Given the description of an element on the screen output the (x, y) to click on. 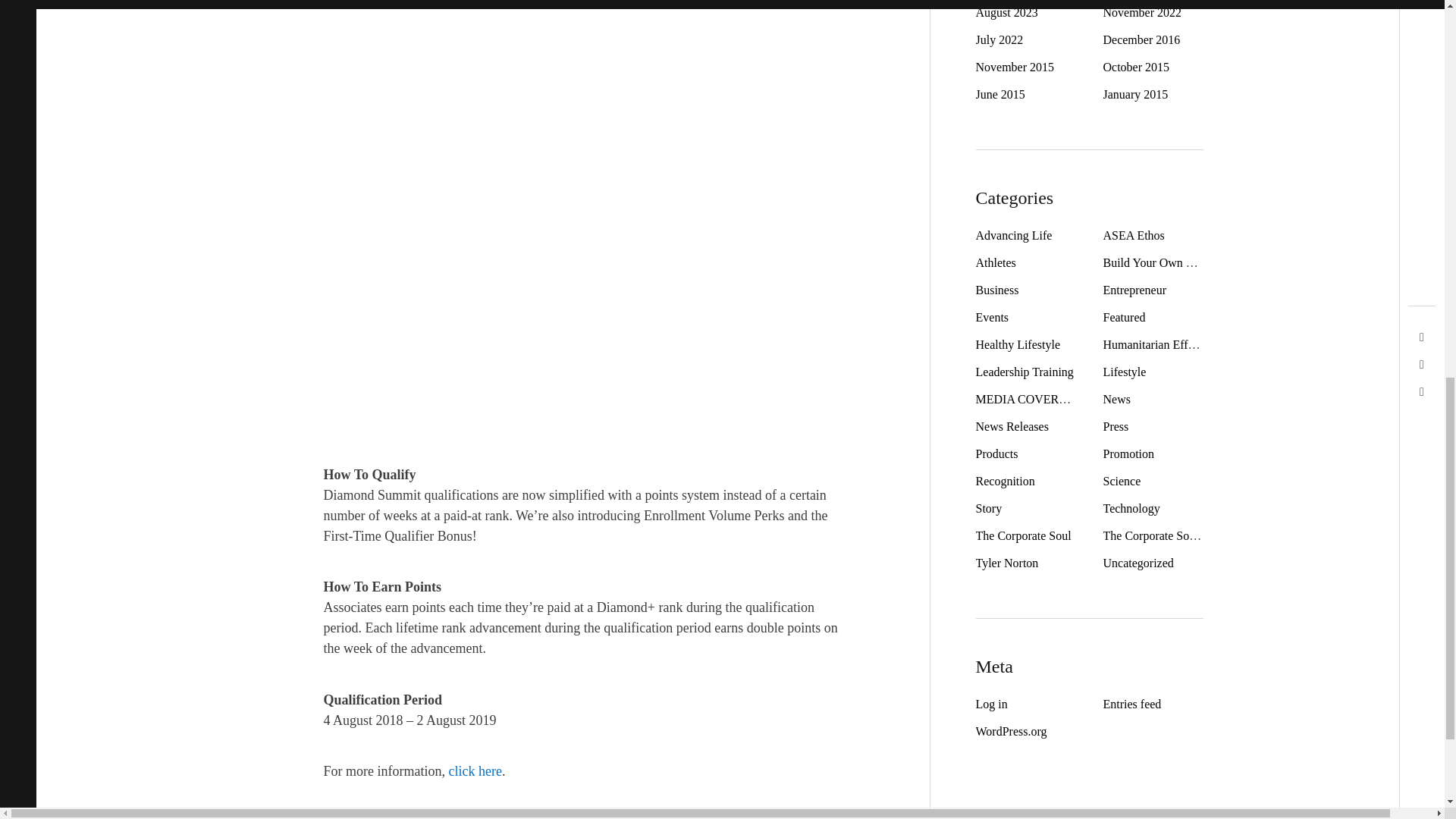
November 2015 (1014, 66)
July 2022 (999, 39)
click here (474, 771)
Summit (783, 812)
January 2015 (1134, 93)
August 2023 (1005, 11)
June 2015 (1000, 93)
Advancing Life (1013, 235)
Events (387, 812)
ASEA Event (493, 812)
